Given the description of an element on the screen output the (x, y) to click on. 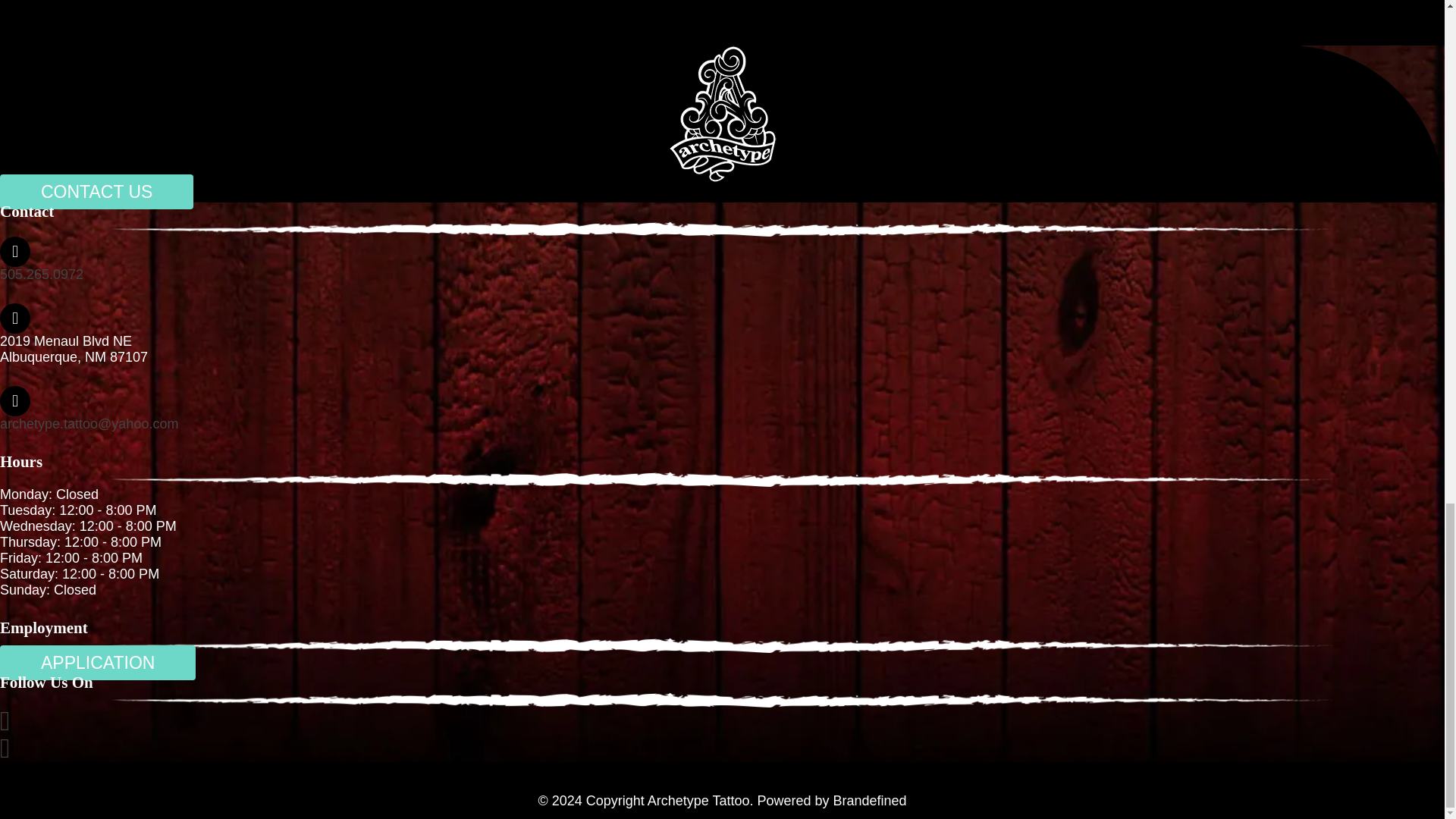
Brandefined (869, 800)
Instagram (5, 752)
CONTACT US (96, 191)
brandefined (869, 800)
APPLICATION (97, 662)
Facebook (5, 725)
505.265.0972 (41, 273)
